Given the description of an element on the screen output the (x, y) to click on. 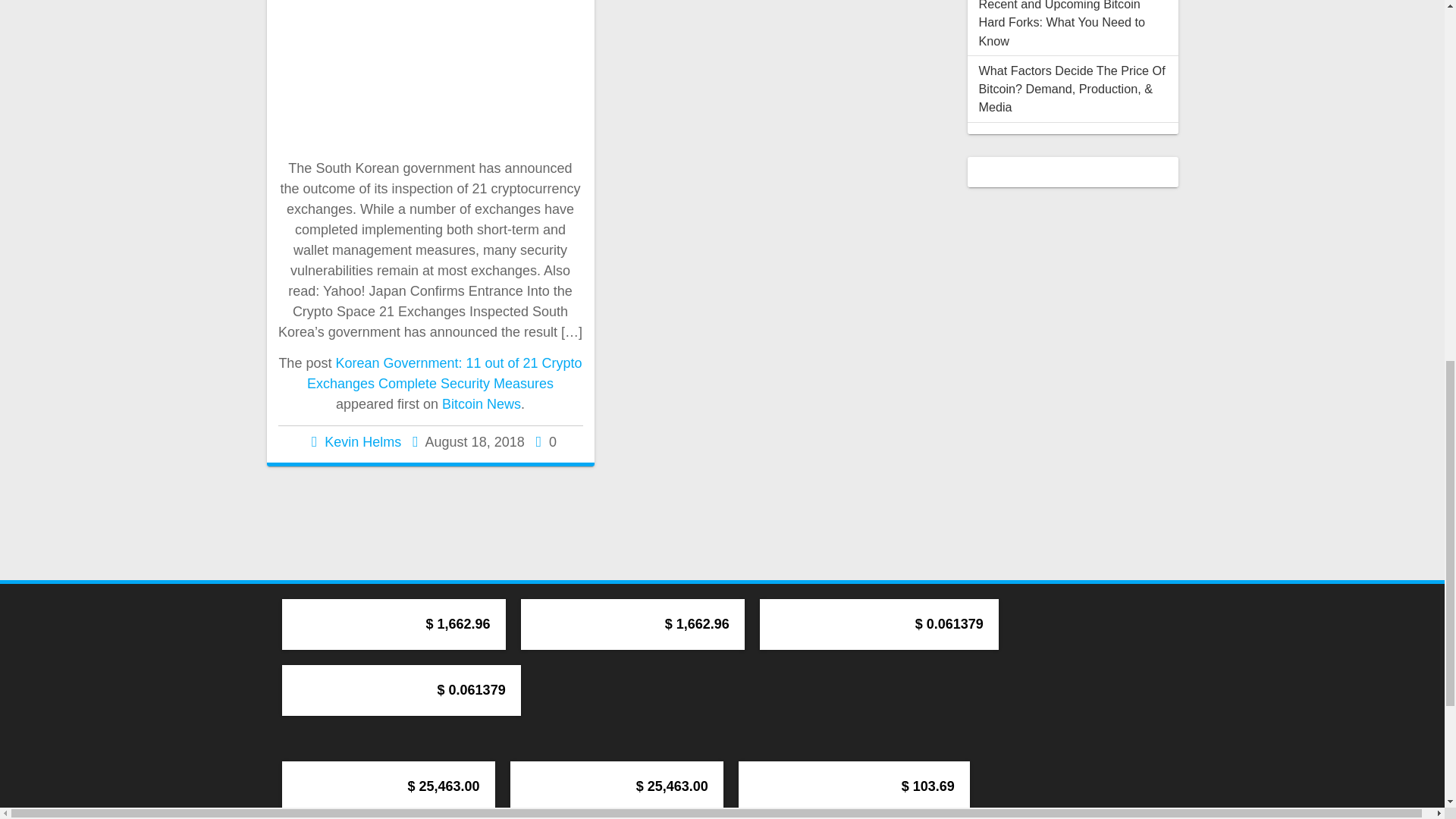
Bitcoin News (481, 403)
Kevin Helms (362, 441)
Posts by Kevin Helms (362, 441)
